Given the description of an element on the screen output the (x, y) to click on. 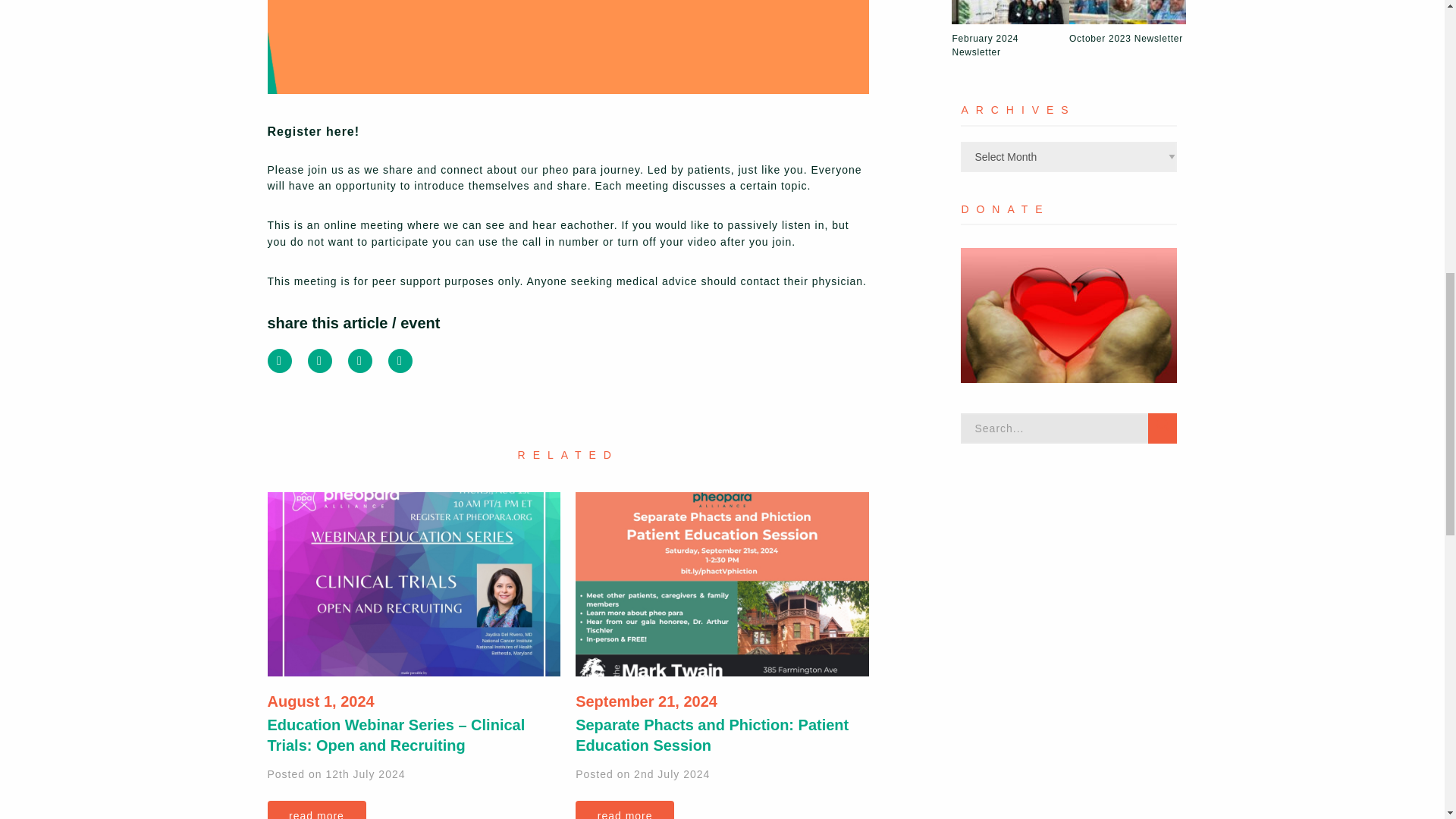
Monthly Patient Support Meeting (566, 47)
Separate Phacts and Phiction: Patient Education Session (722, 584)
